Given the description of an element on the screen output the (x, y) to click on. 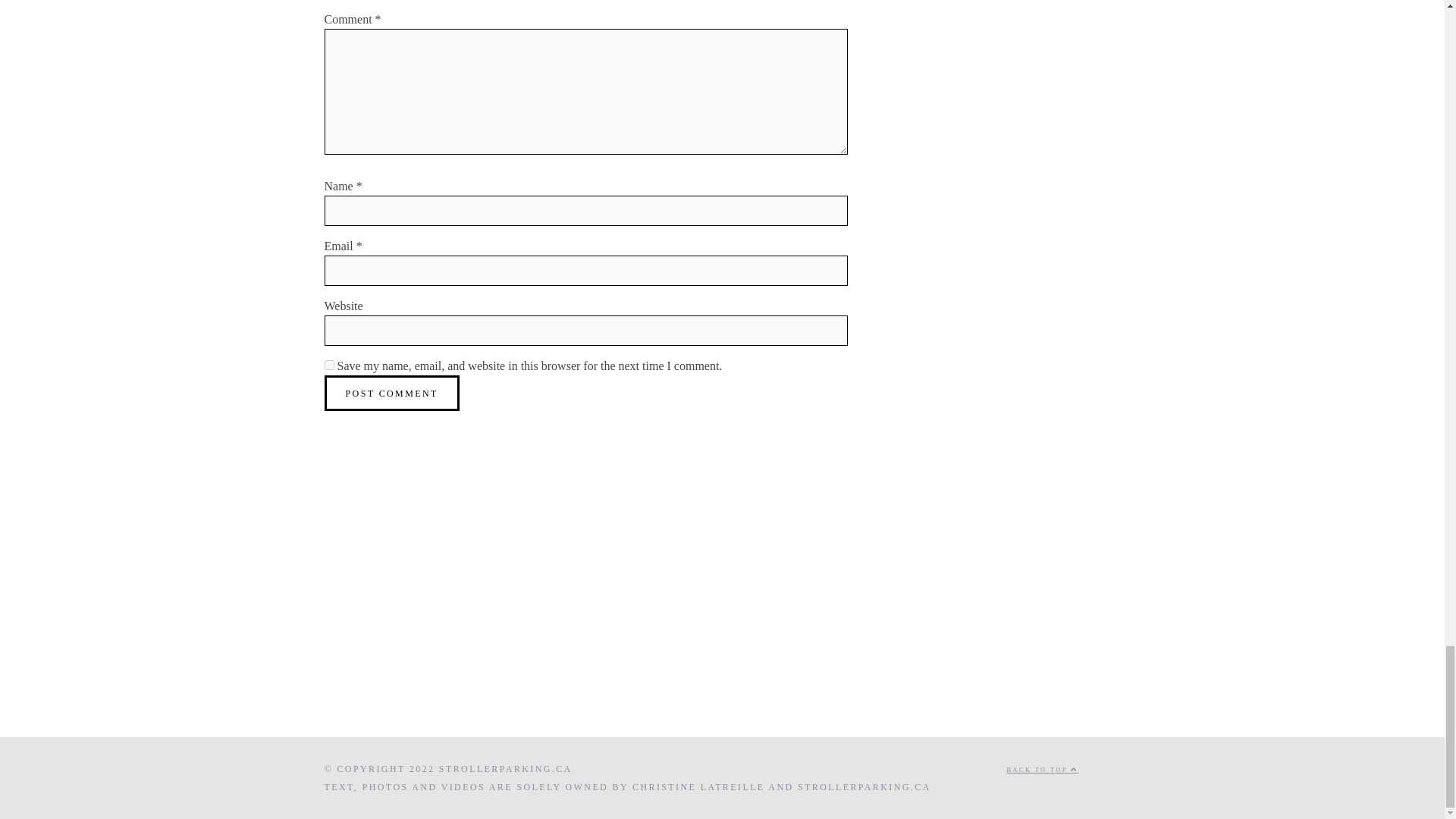
Post Comment (392, 393)
yes (329, 365)
